Given the description of an element on the screen output the (x, y) to click on. 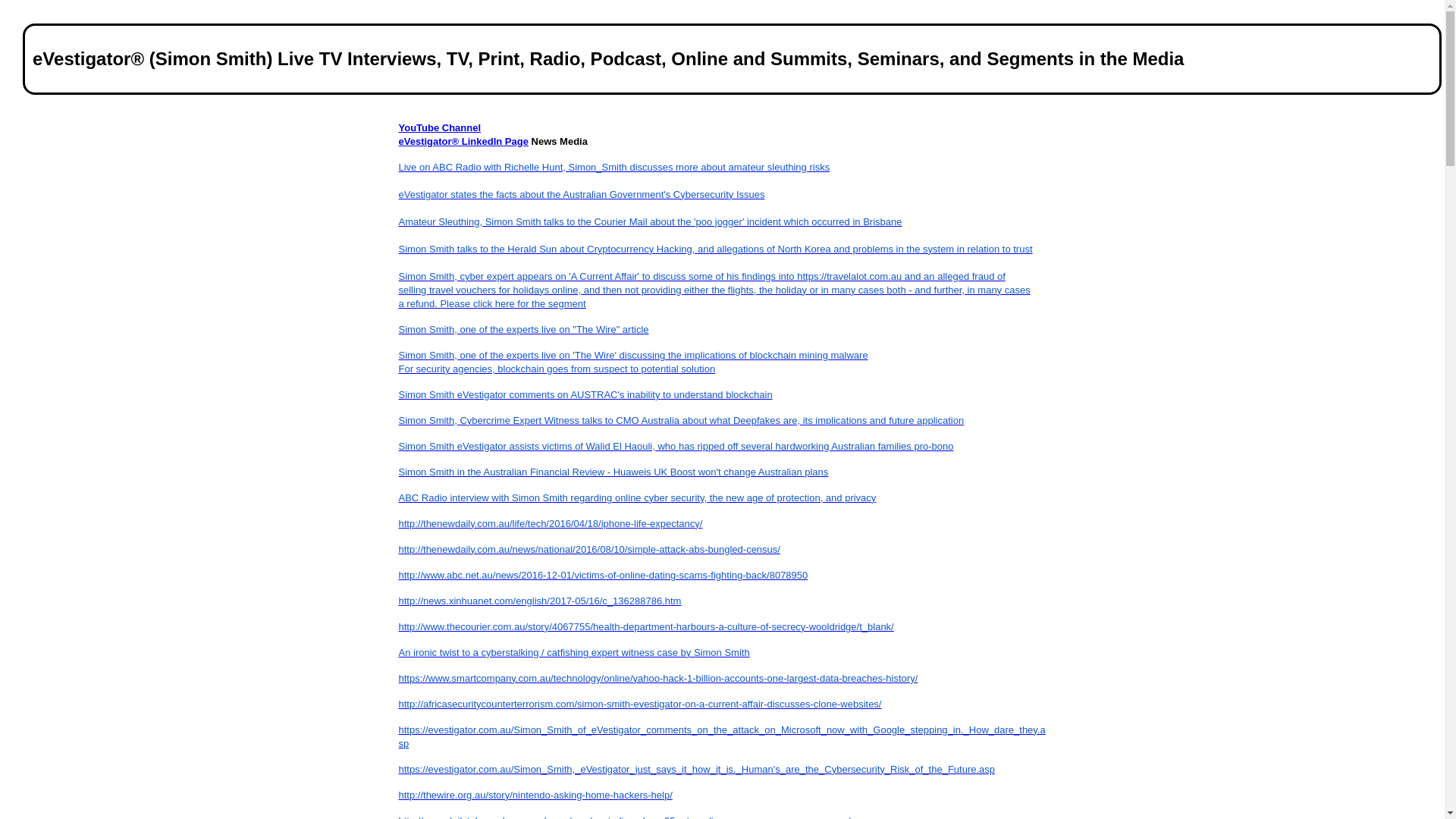
YouTube Channel Element type: text (439, 127)
Please click here for the segment Element type: text (512, 303)
Simon Smith, one of the experts live on "The Wire" article Element type: text (523, 329)
http://news.xinhuanet.com/english/2017-05/16/c_136288786.htm Element type: text (539, 600)
